Given the description of an element on the screen output the (x, y) to click on. 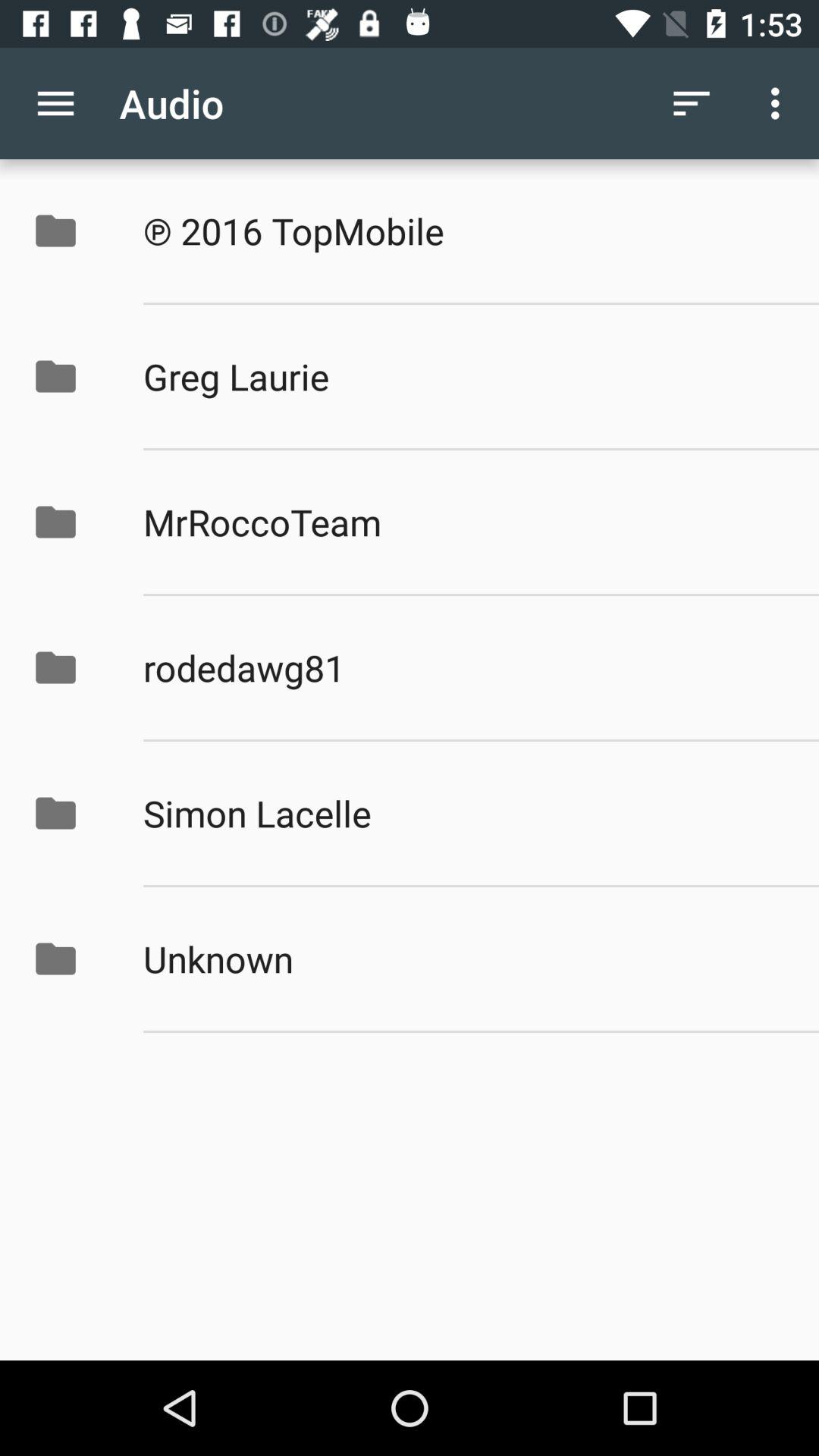
turn off the app below the mrroccoteam item (465, 667)
